Given the description of an element on the screen output the (x, y) to click on. 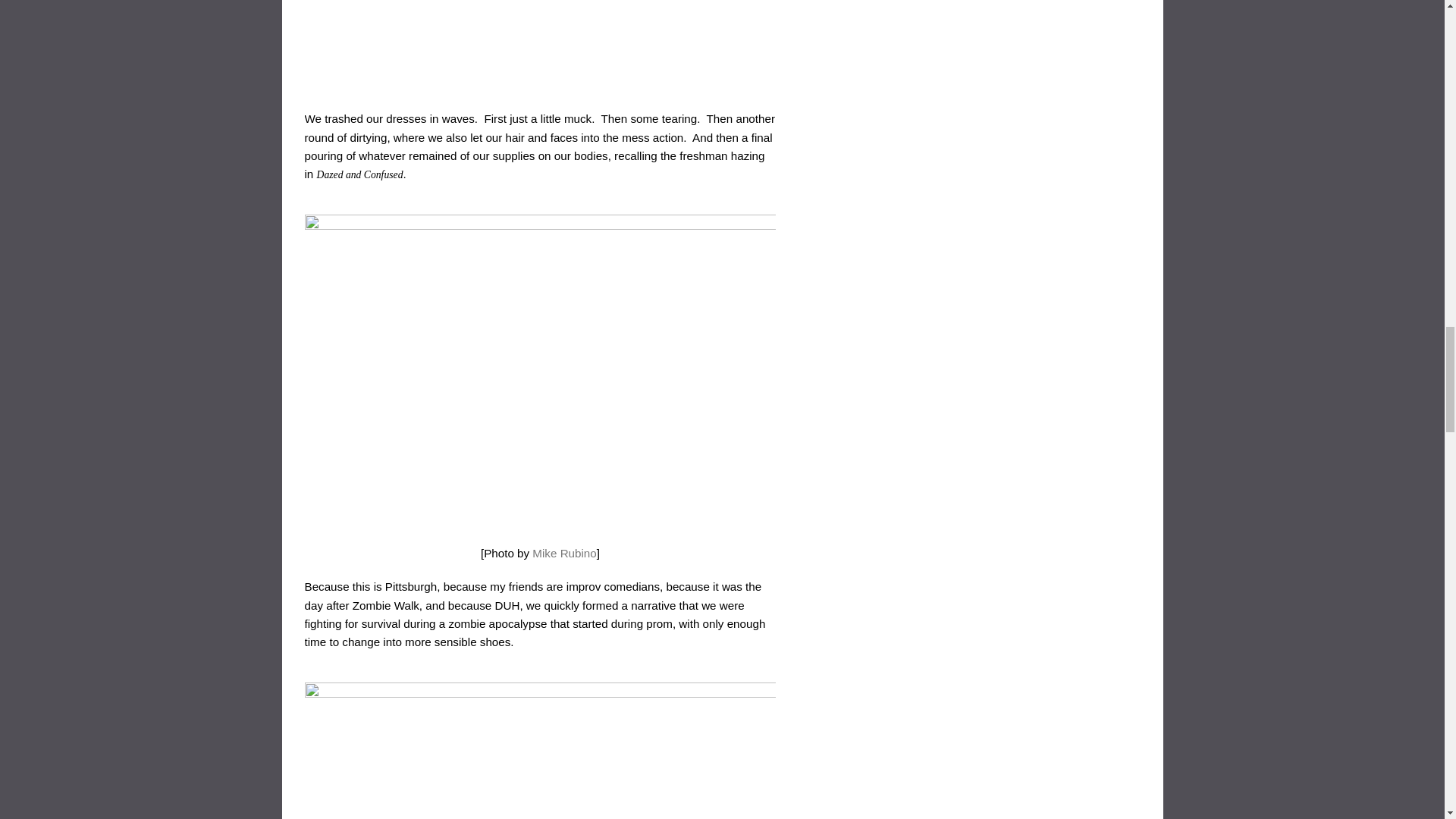
Mike Rubino (563, 553)
Commentary Track: Our Vows (563, 553)
